Given the description of an element on the screen output the (x, y) to click on. 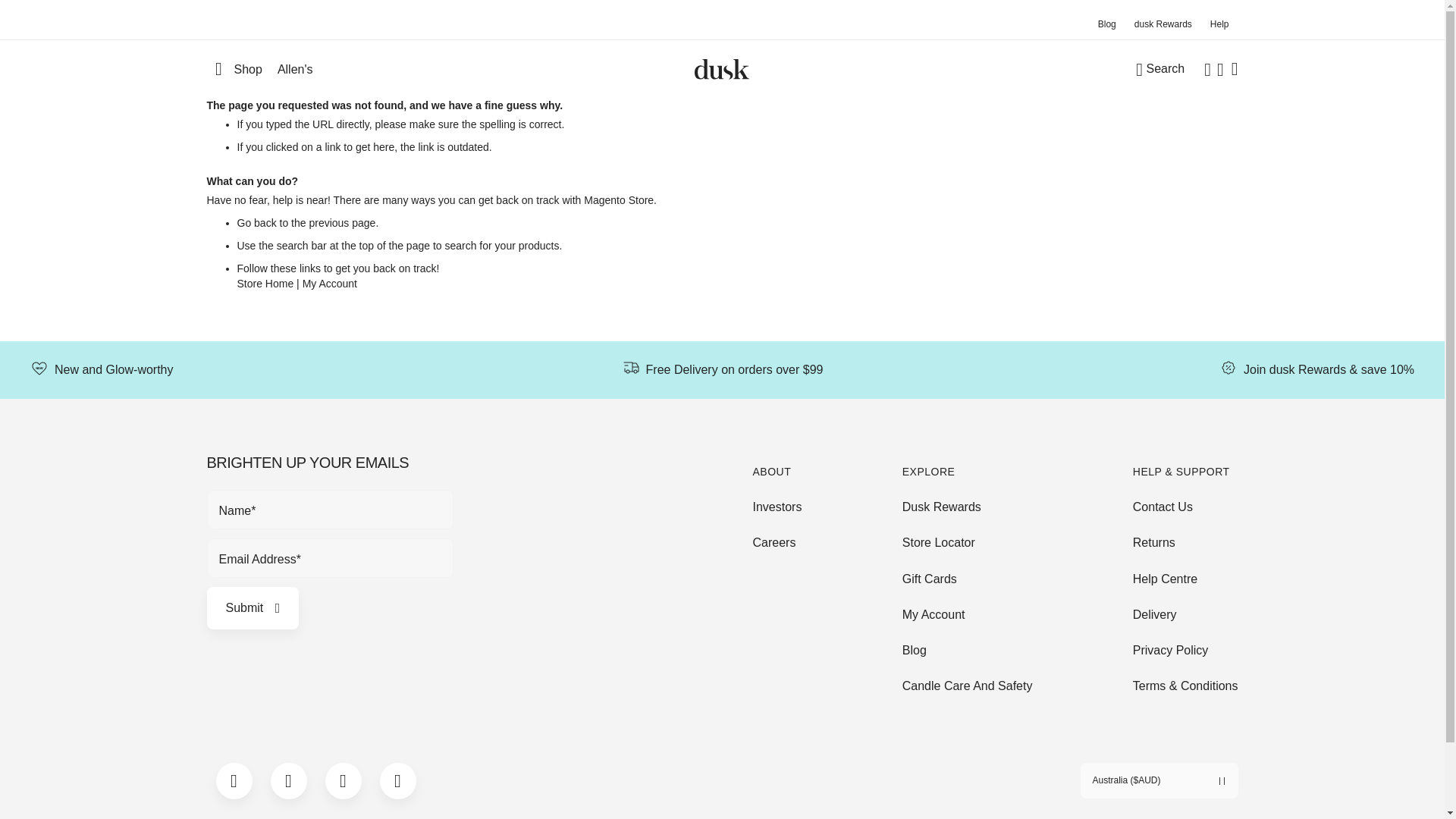
Shop (234, 69)
Help (1218, 23)
Blog (1106, 23)
Toggling menu (234, 69)
dusk Rewards (1163, 23)
